Given the description of an element on the screen output the (x, y) to click on. 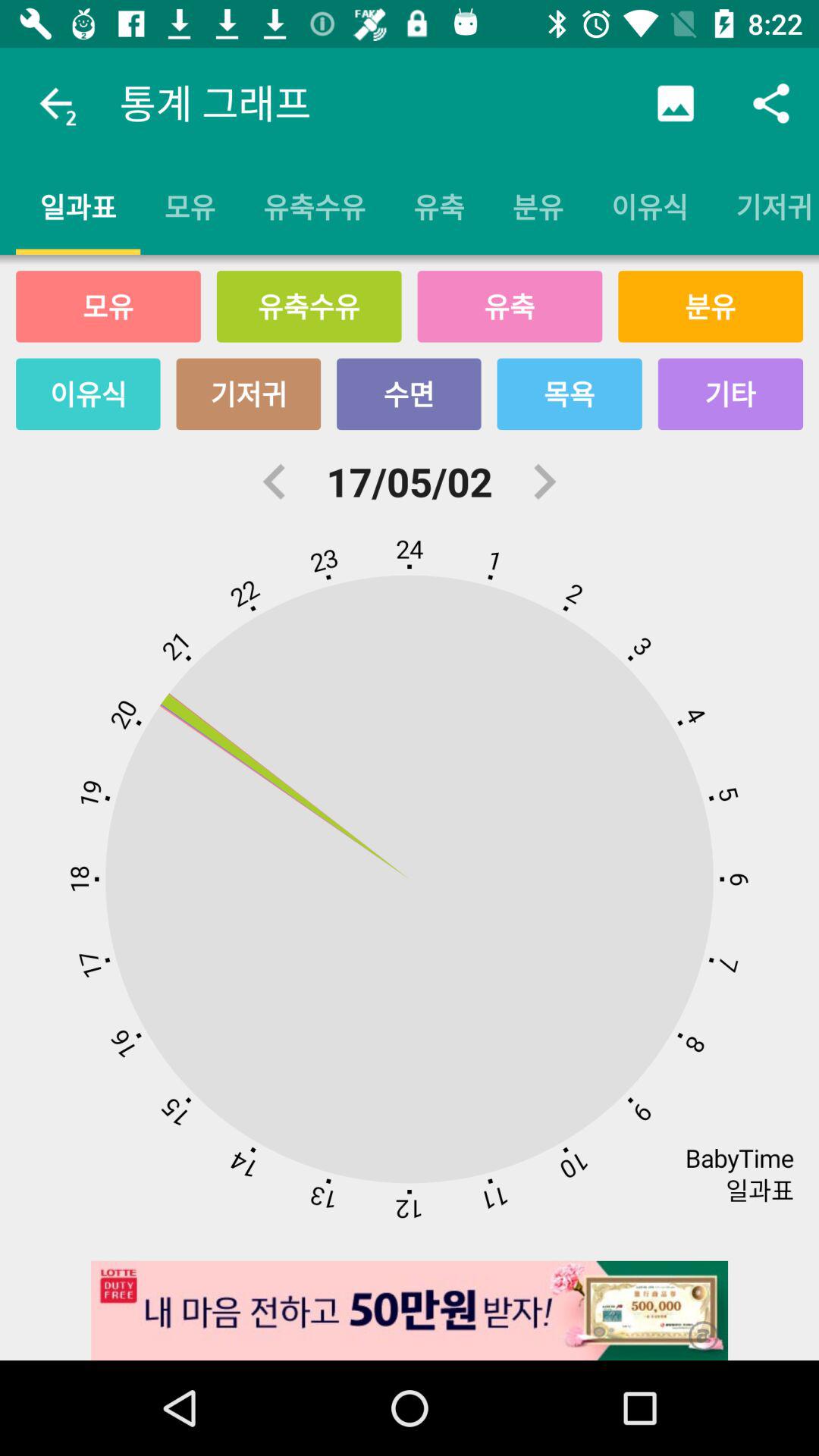
turn off item at the bottom right corner (693, 1325)
